Given the description of an element on the screen output the (x, y) to click on. 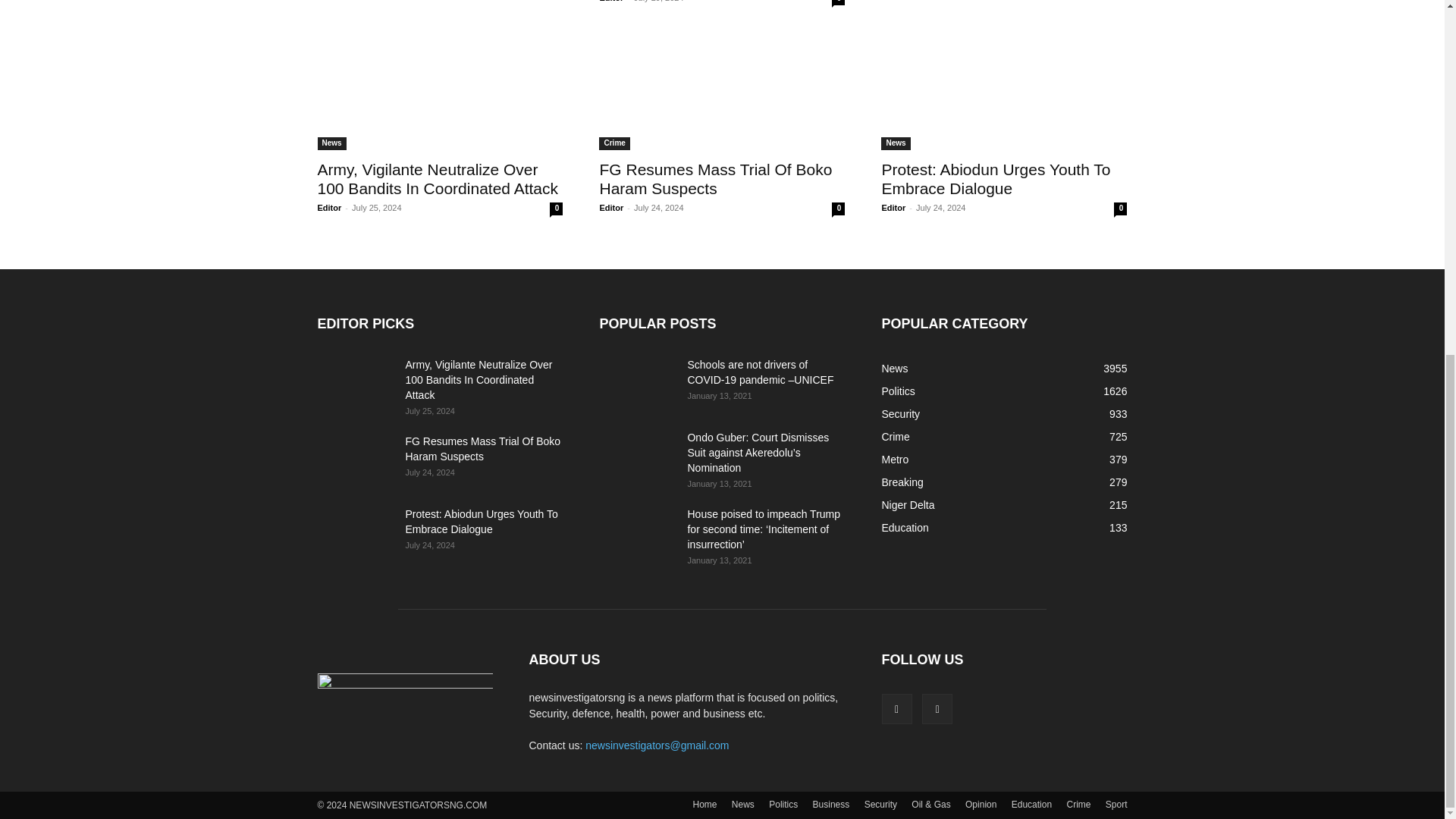
FG Resumes Mass Trial Of Boko Haram Suspects (721, 88)
